Given the description of an element on the screen output the (x, y) to click on. 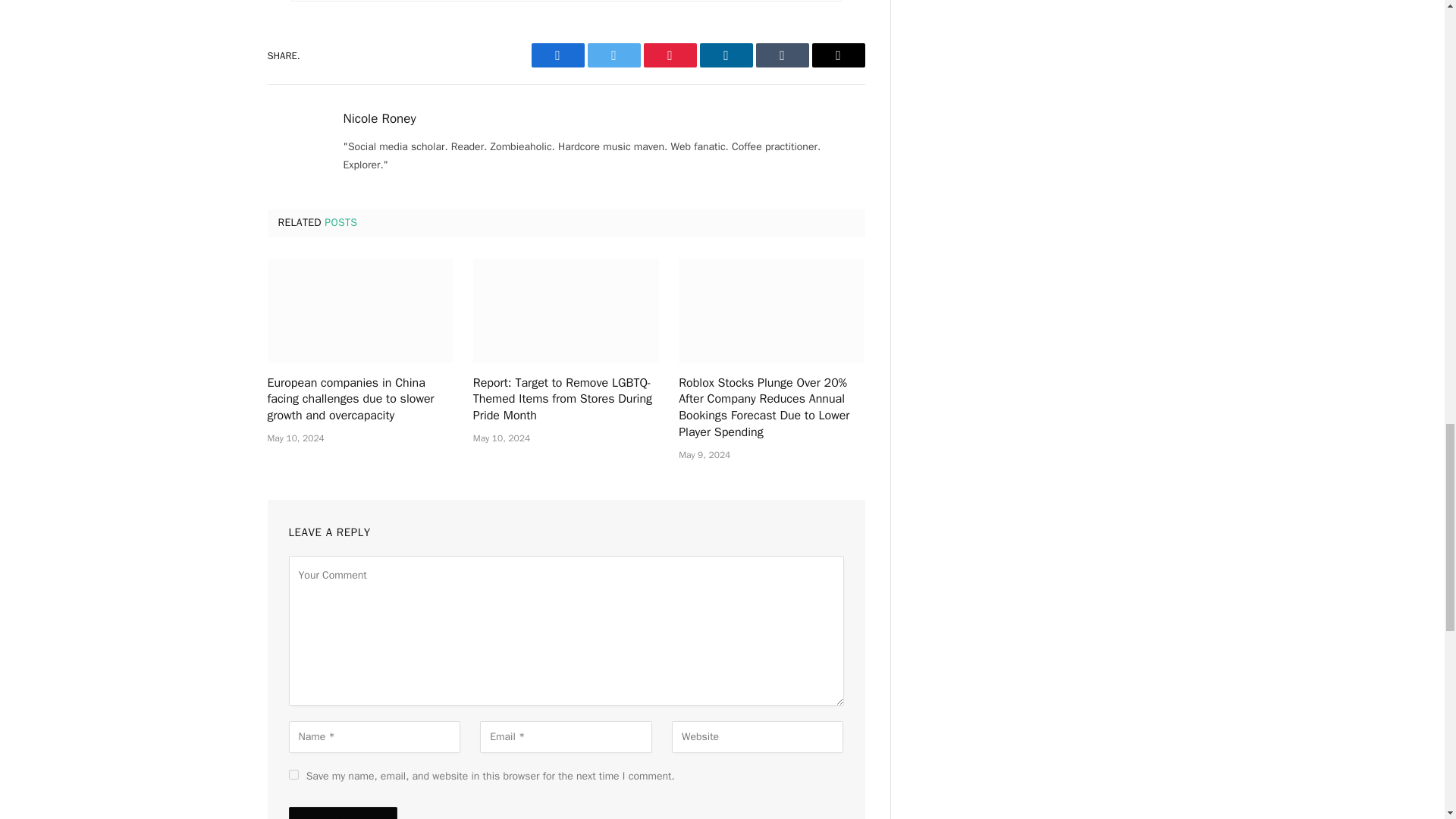
Post Comment (342, 812)
yes (293, 774)
